Given the description of an element on the screen output the (x, y) to click on. 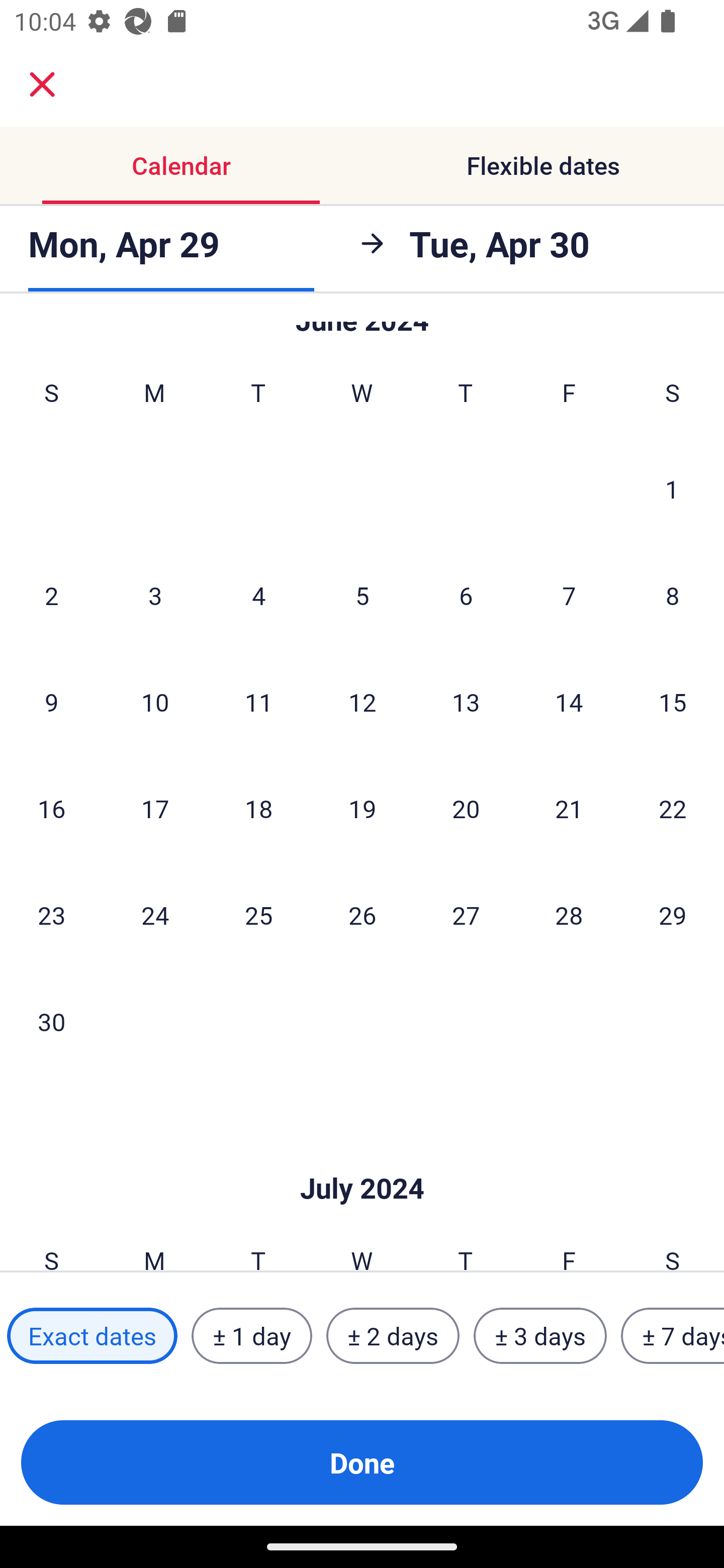
close. (42, 84)
Flexible dates (542, 164)
1 Saturday, June 1, 2024 (672, 488)
2 Sunday, June 2, 2024 (51, 595)
3 Monday, June 3, 2024 (155, 595)
4 Tuesday, June 4, 2024 (258, 595)
5 Wednesday, June 5, 2024 (362, 595)
6 Thursday, June 6, 2024 (465, 595)
7 Friday, June 7, 2024 (569, 595)
8 Saturday, June 8, 2024 (672, 595)
9 Sunday, June 9, 2024 (51, 701)
10 Monday, June 10, 2024 (155, 701)
11 Tuesday, June 11, 2024 (258, 701)
12 Wednesday, June 12, 2024 (362, 701)
13 Thursday, June 13, 2024 (465, 701)
14 Friday, June 14, 2024 (569, 701)
15 Saturday, June 15, 2024 (672, 701)
16 Sunday, June 16, 2024 (51, 808)
17 Monday, June 17, 2024 (155, 808)
18 Tuesday, June 18, 2024 (258, 808)
19 Wednesday, June 19, 2024 (362, 808)
20 Thursday, June 20, 2024 (465, 808)
21 Friday, June 21, 2024 (569, 808)
22 Saturday, June 22, 2024 (672, 808)
23 Sunday, June 23, 2024 (51, 914)
24 Monday, June 24, 2024 (155, 914)
25 Tuesday, June 25, 2024 (258, 914)
26 Wednesday, June 26, 2024 (362, 914)
27 Thursday, June 27, 2024 (465, 914)
28 Friday, June 28, 2024 (569, 914)
29 Saturday, June 29, 2024 (672, 914)
30 Sunday, June 30, 2024 (51, 1021)
Skip to Done (362, 1158)
Exact dates (92, 1335)
± 1 day (251, 1335)
± 2 days (392, 1335)
± 3 days (539, 1335)
± 7 days (672, 1335)
Done (361, 1462)
